Given the description of an element on the screen output the (x, y) to click on. 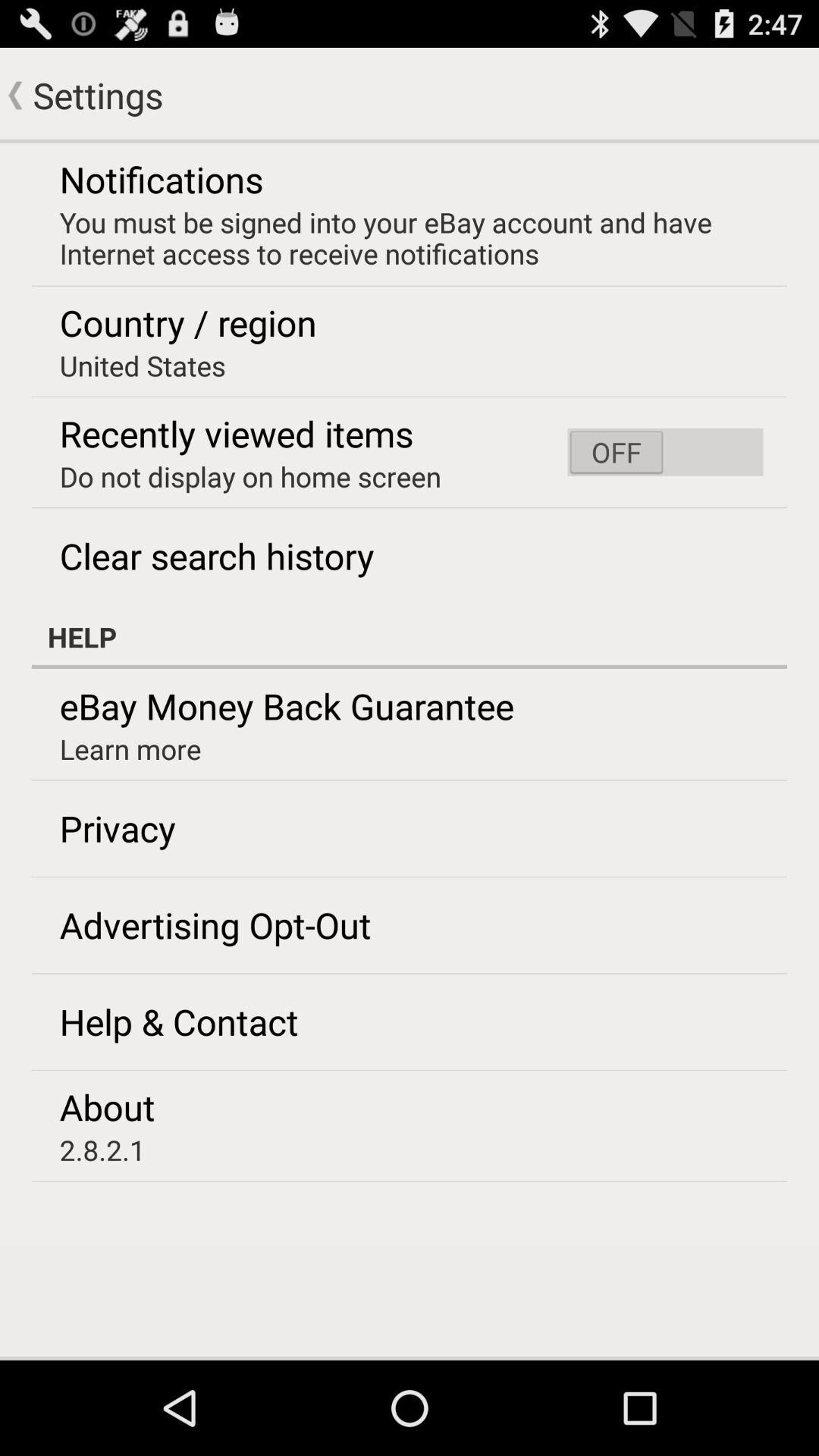
turn off the icon above help & contact (215, 924)
